Given the description of an element on the screen output the (x, y) to click on. 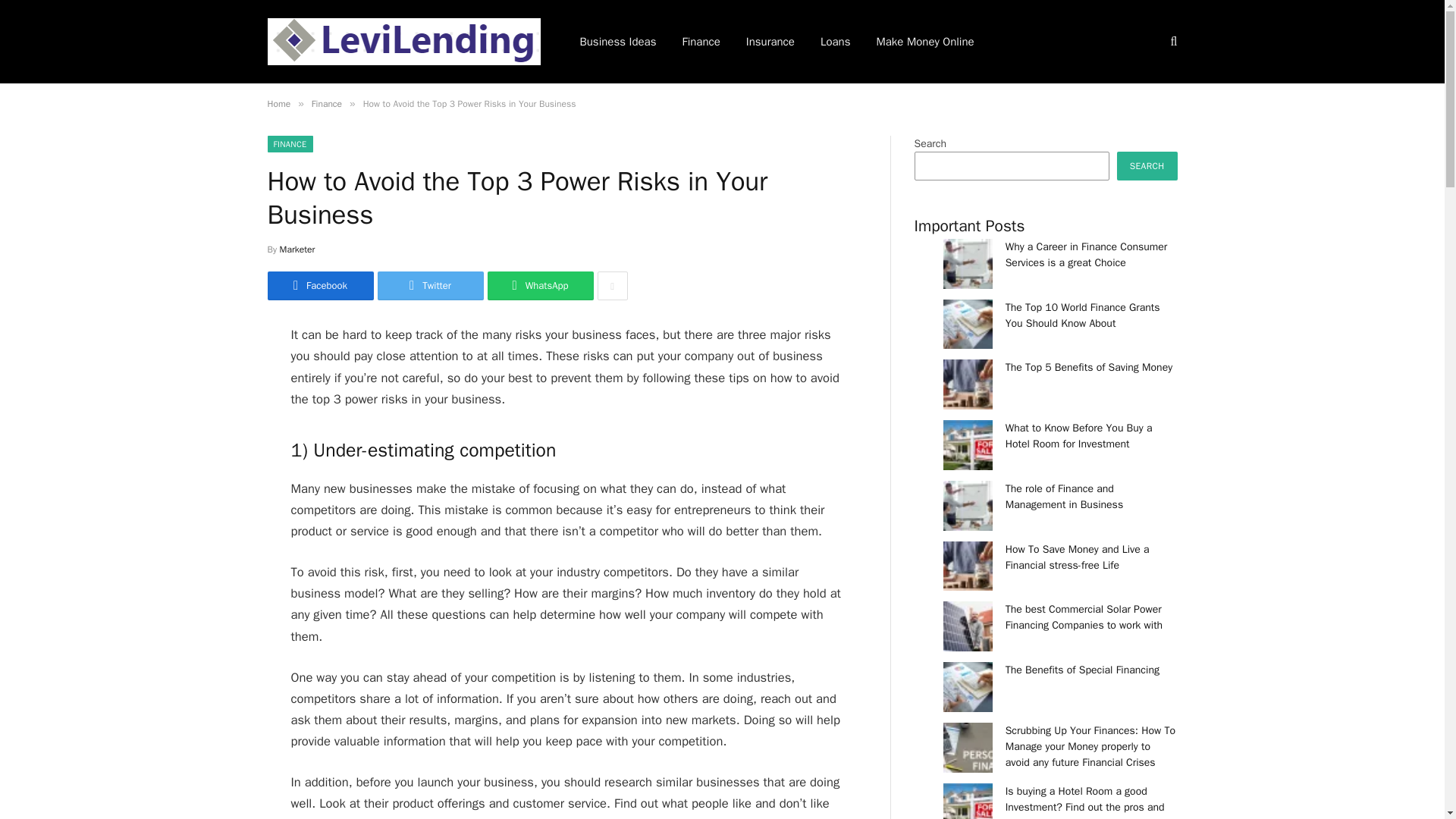
WhatsApp (539, 285)
Share on WhatsApp (539, 285)
Posts by Marketer (297, 249)
Insurance (770, 41)
Marketer (297, 249)
Finance (326, 103)
FINANCE (289, 143)
Share on Twitter (430, 285)
Twitter (430, 285)
Share on Twitter (319, 285)
